Given the description of an element on the screen output the (x, y) to click on. 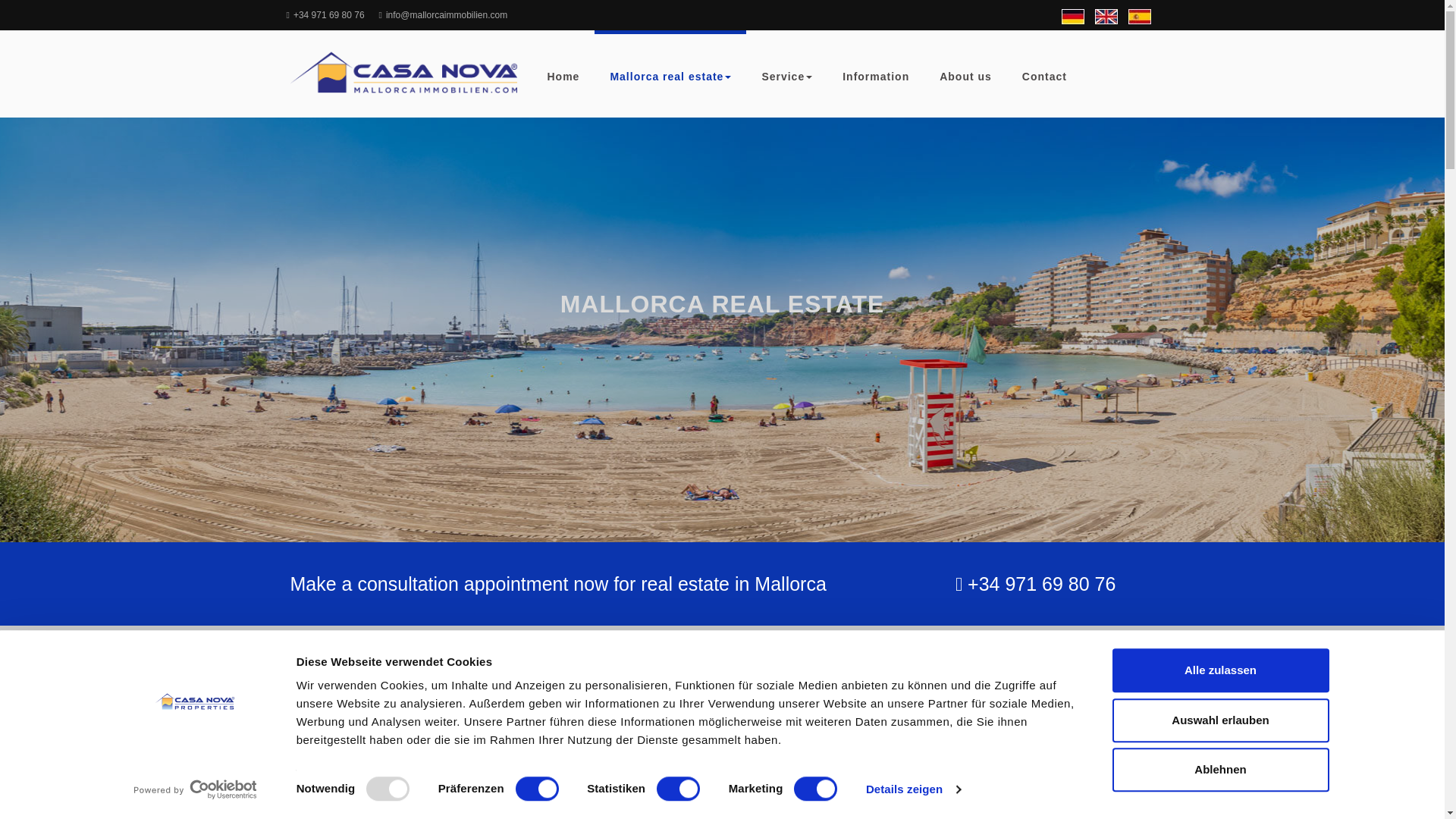
Ablehnen (1219, 769)
Alle zulassen (1219, 670)
Details zeigen (913, 789)
Real estate Mallorca in English (1106, 16)
Immobilien Mallorca auf Deutsch (1072, 16)
Auswahl erlauben (1219, 720)
